Given the description of an element on the screen output the (x, y) to click on. 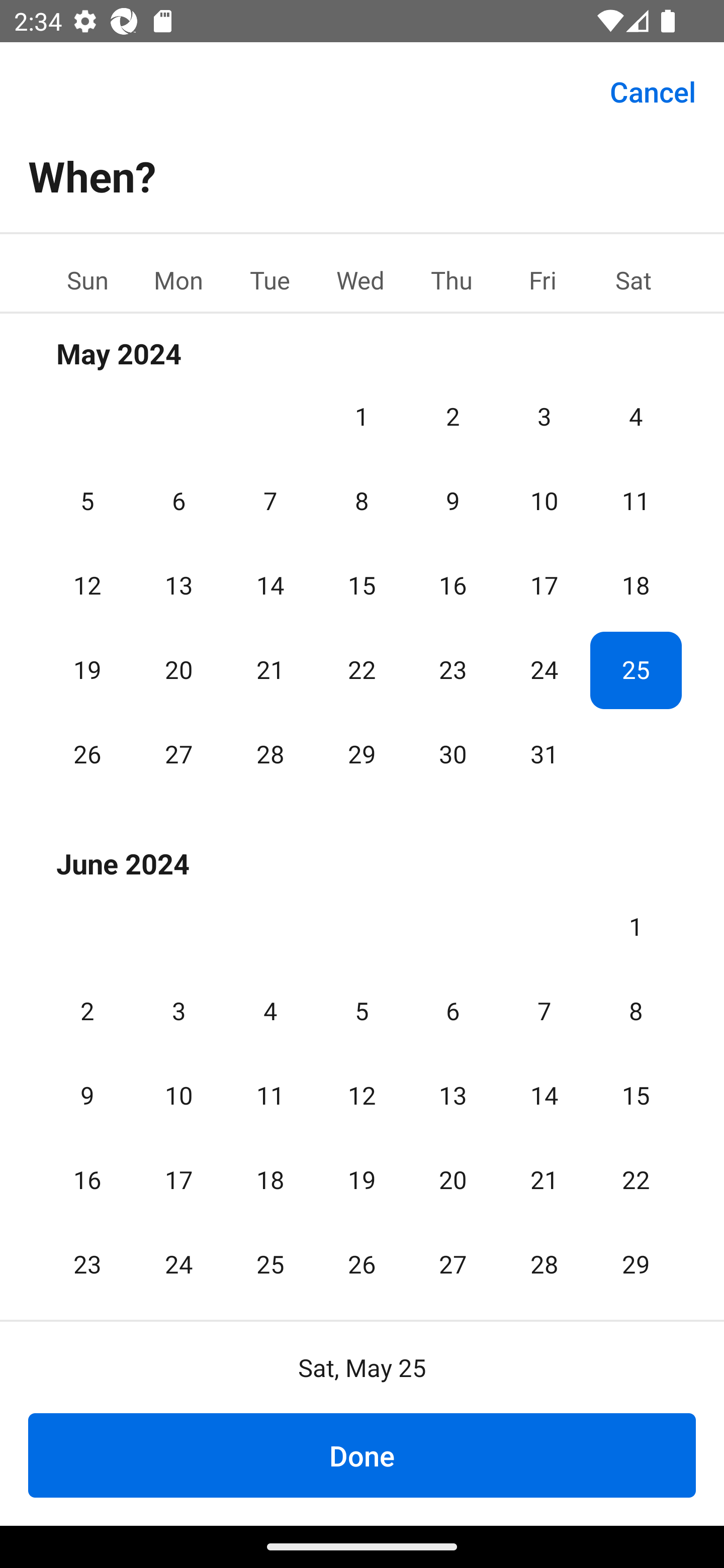
Cancel (652, 90)
Done (361, 1454)
